Given the description of an element on the screen output the (x, y) to click on. 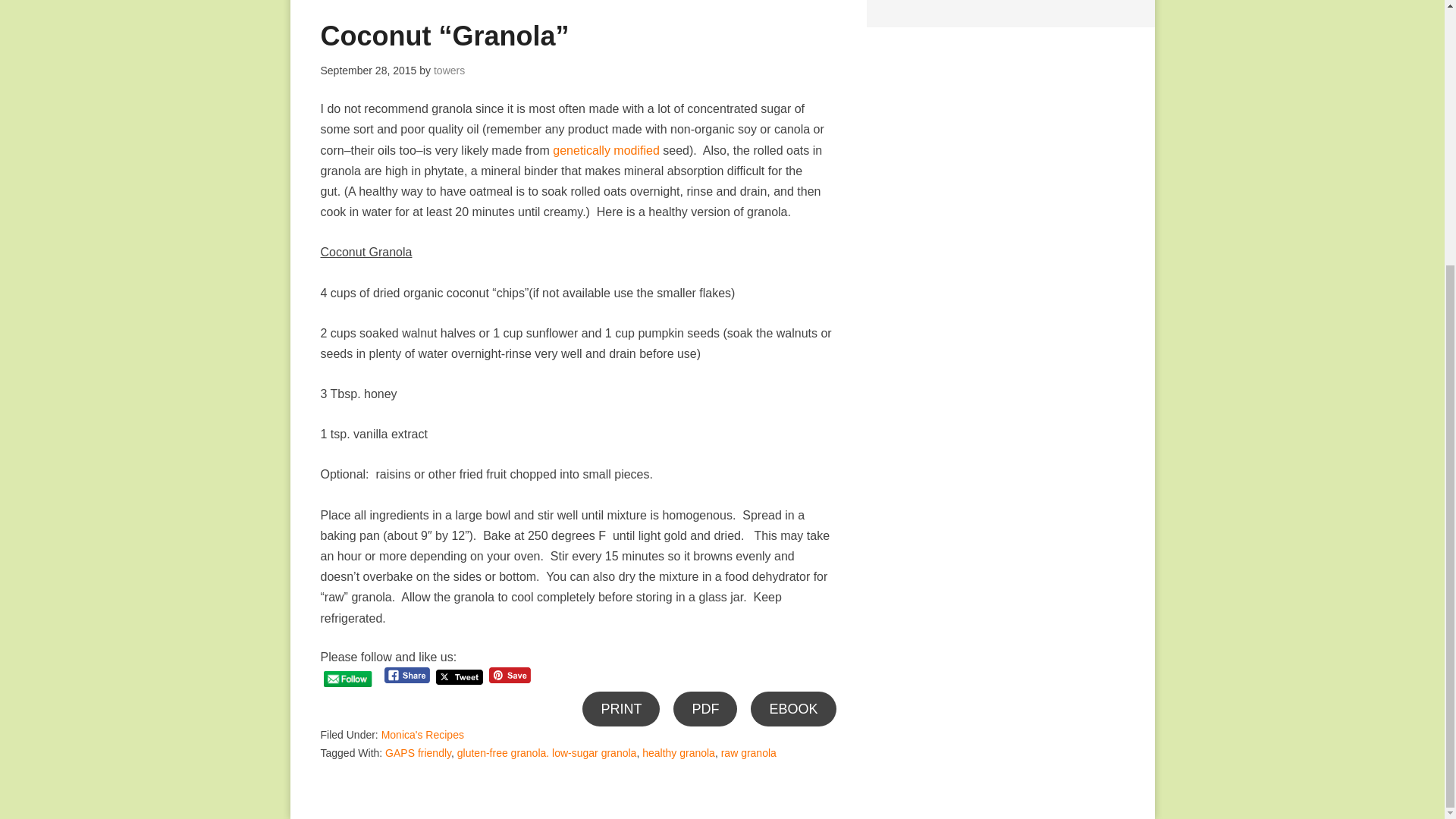
towers (448, 70)
raw granola (748, 752)
PRINT (620, 709)
Monica's Recipes (422, 734)
EBOOK (793, 709)
PDF (704, 709)
gluten-free granola. low-sugar granola (547, 752)
GAPS friendly (418, 752)
Tweet (459, 677)
Pin Share (510, 675)
